Given the description of an element on the screen output the (x, y) to click on. 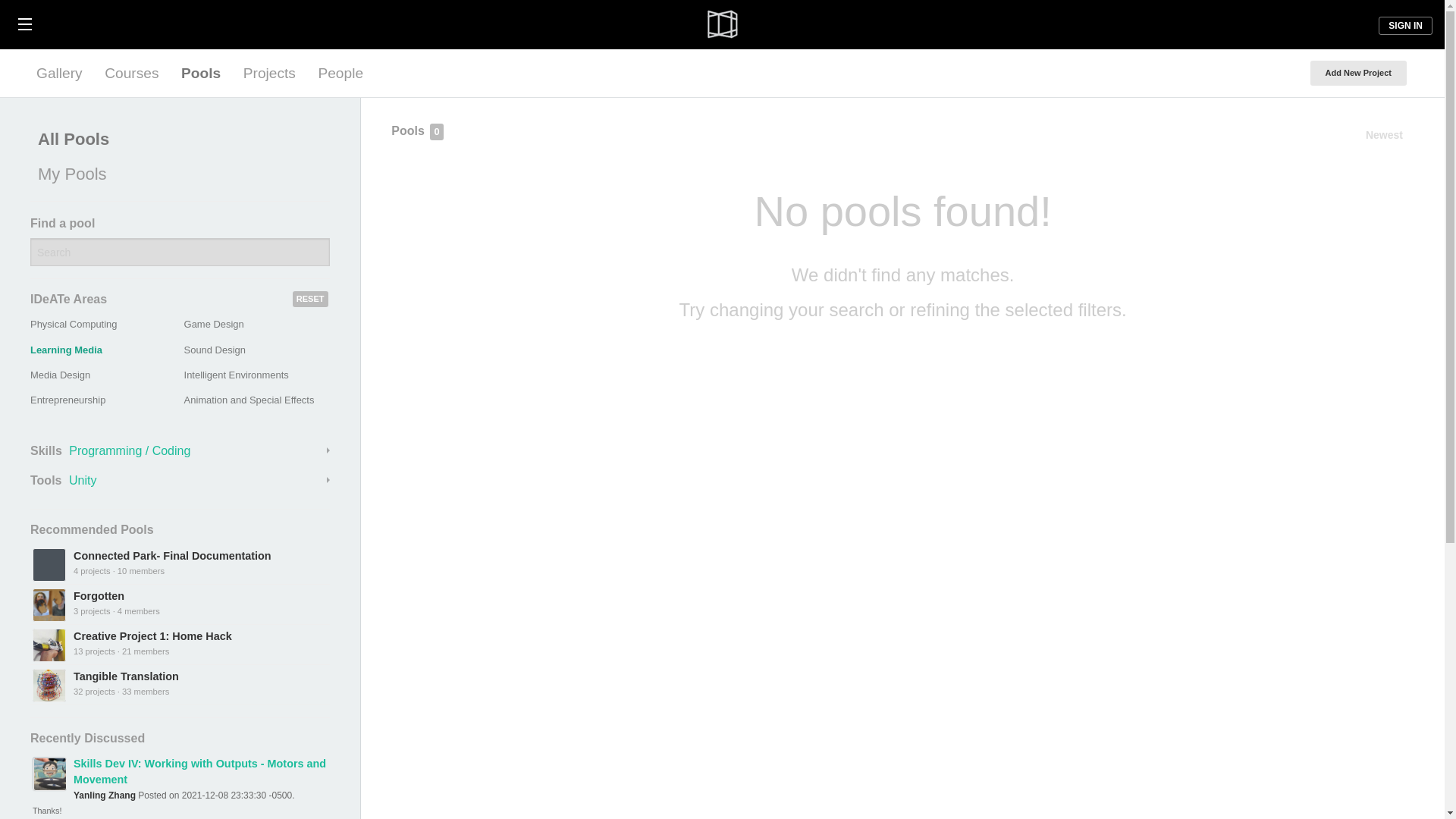
Gallery (59, 73)
People (340, 73)
Add New Project (1358, 72)
Courses (131, 73)
Learning Media (65, 349)
Intelligent Environments (236, 374)
Physical Computing (73, 324)
Entrepreneurship (67, 399)
SIGN IN (1405, 25)
Pools (200, 73)
Sound Design (215, 349)
RESET (310, 299)
Animation and Special Effects (249, 399)
Game Design (214, 324)
My Pools (175, 174)
